Given the description of an element on the screen output the (x, y) to click on. 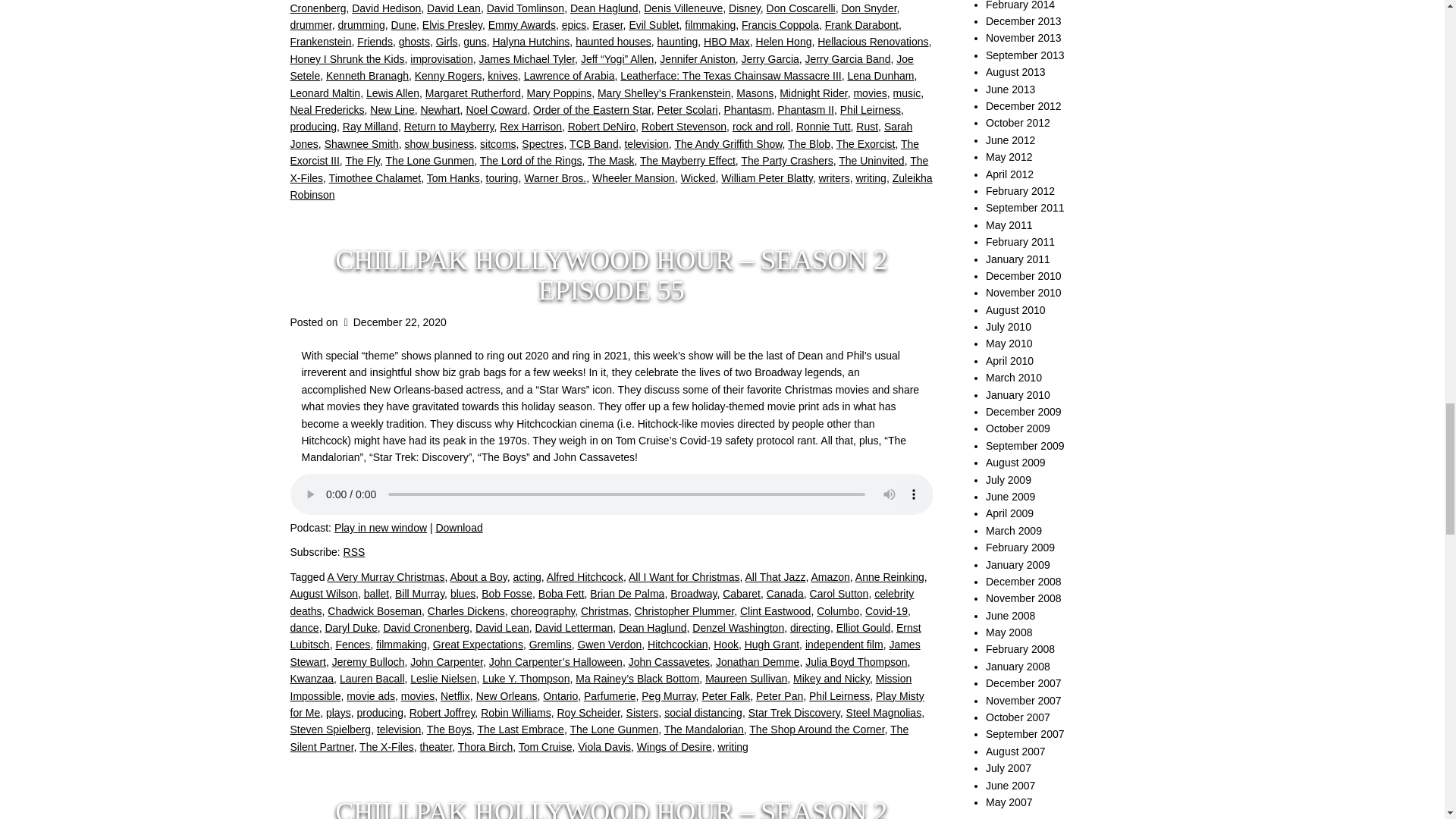
Download (458, 527)
Subscribe via RSS (354, 551)
Play in new window (380, 527)
